Given the description of an element on the screen output the (x, y) to click on. 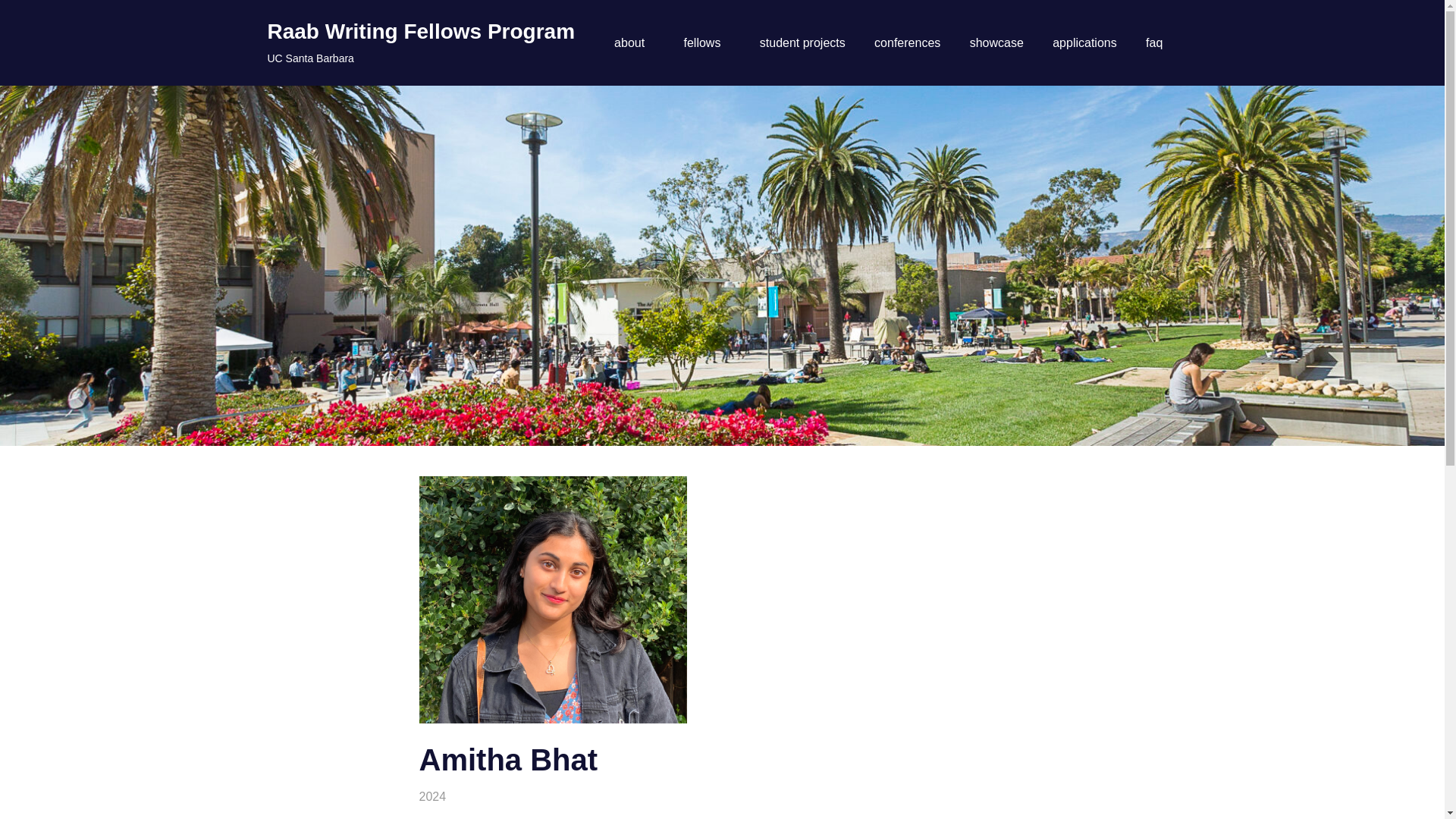
showcase (996, 43)
about (633, 43)
2:58 am (454, 796)
faq (1154, 43)
applications (1084, 43)
Raab Writing Fellows Program (420, 31)
July 23, 2023 (454, 796)
View all posts by Ljiljana Coklin (456, 796)
conferences (907, 43)
fellows (706, 43)
student projects (802, 43)
Ljiljana Coklin (456, 796)
2024 (432, 796)
